Given the description of an element on the screen output the (x, y) to click on. 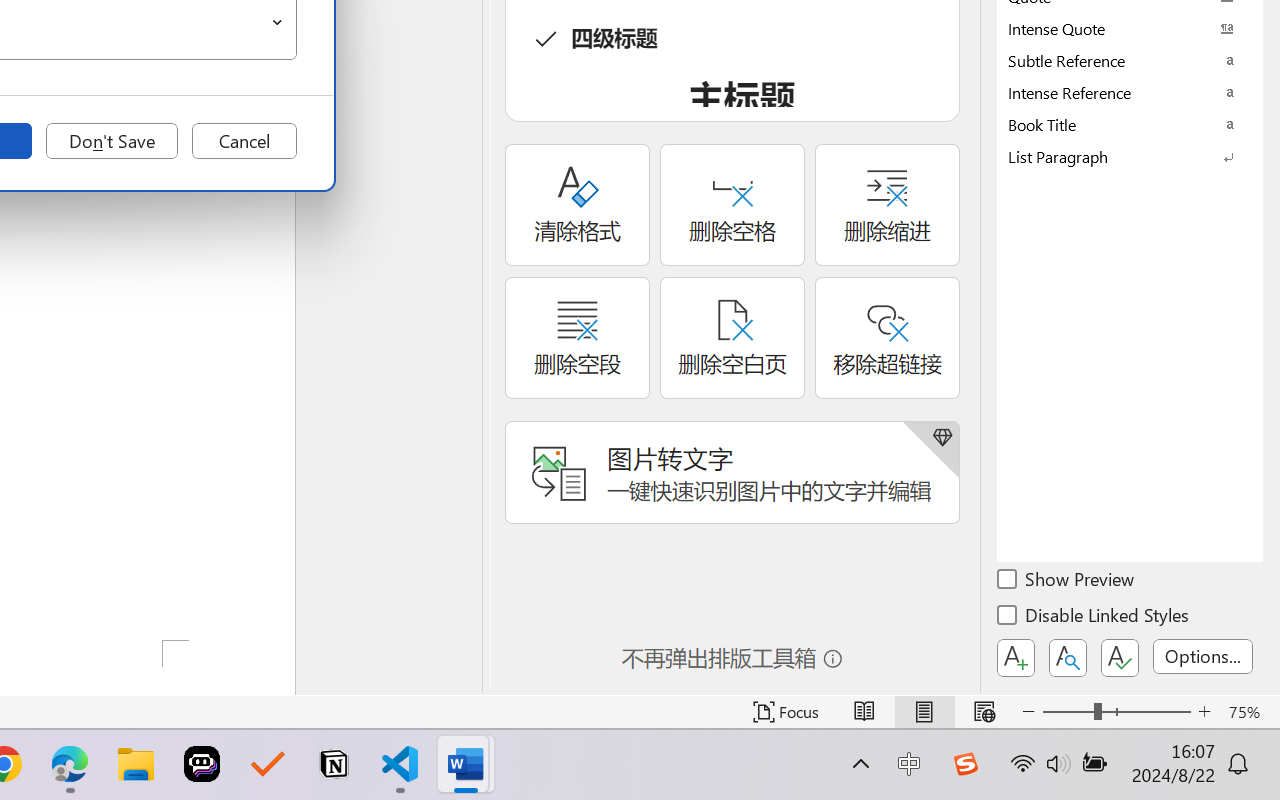
Read Mode (864, 712)
Notion (333, 764)
Poe (201, 764)
Zoom (1116, 712)
Zoom Out (1067, 712)
Options... (1203, 656)
